Given the description of an element on the screen output the (x, y) to click on. 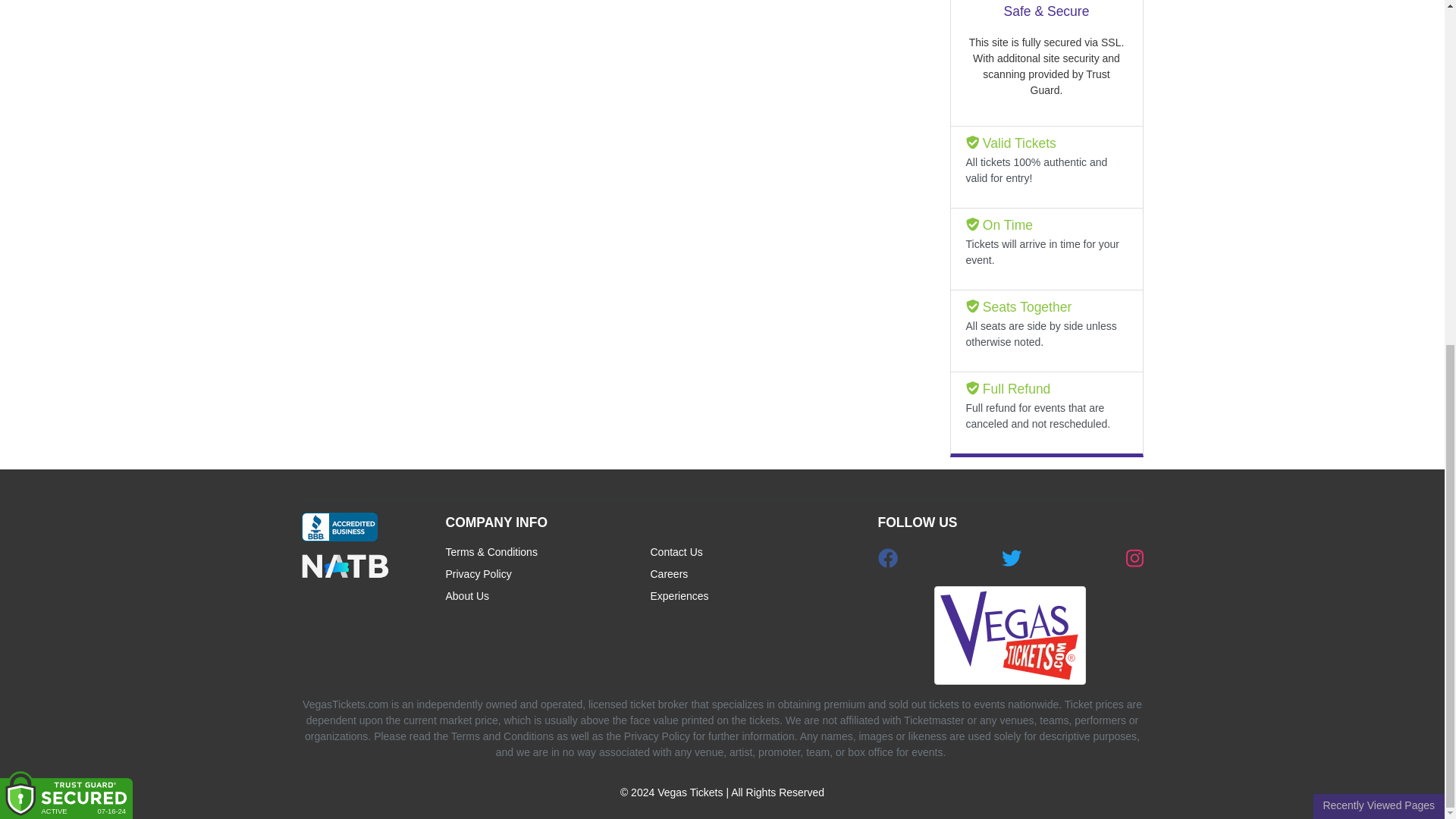
Careers (753, 577)
Experiences (753, 599)
About Us (547, 599)
Contact Us (753, 555)
Privacy Policy (547, 577)
Alliance Tickets, Inc., Ticket Sales - Events, Las Vegas, NV (339, 526)
